Given the description of an element on the screen output the (x, y) to click on. 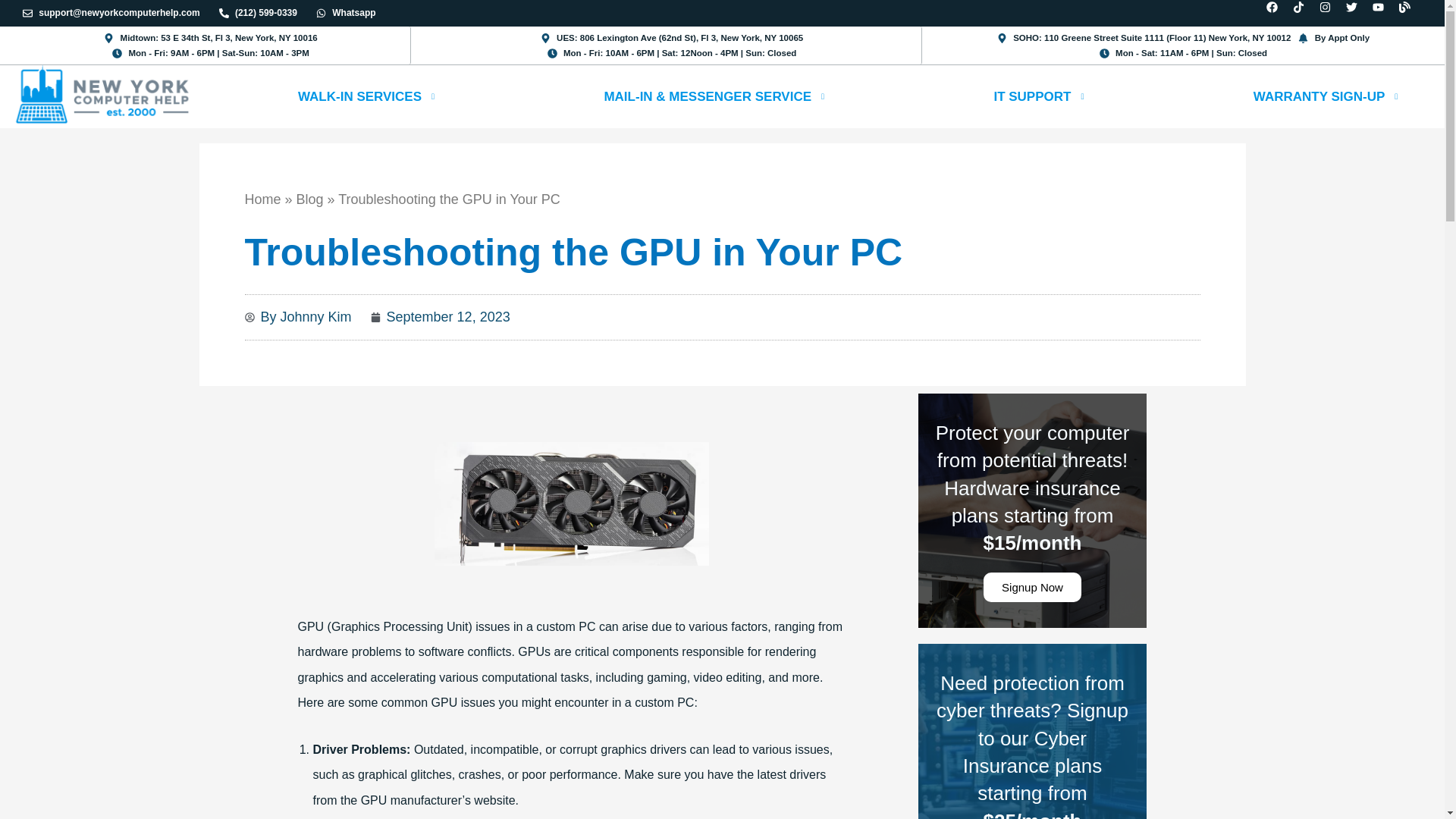
Youtube (1383, 12)
Facebook (1277, 12)
WARRANTY SIGN-UP (1328, 96)
Instagram (1330, 12)
WALK-IN SERVICES (369, 96)
Tiktok (1304, 12)
Twitter (1356, 12)
Blog (1410, 12)
Whatsapp (345, 12)
Midtown: 53 E 34th St, Fl 3, New York, NY 10016 (210, 37)
IT SUPPORT (1041, 96)
